Given the description of an element on the screen output the (x, y) to click on. 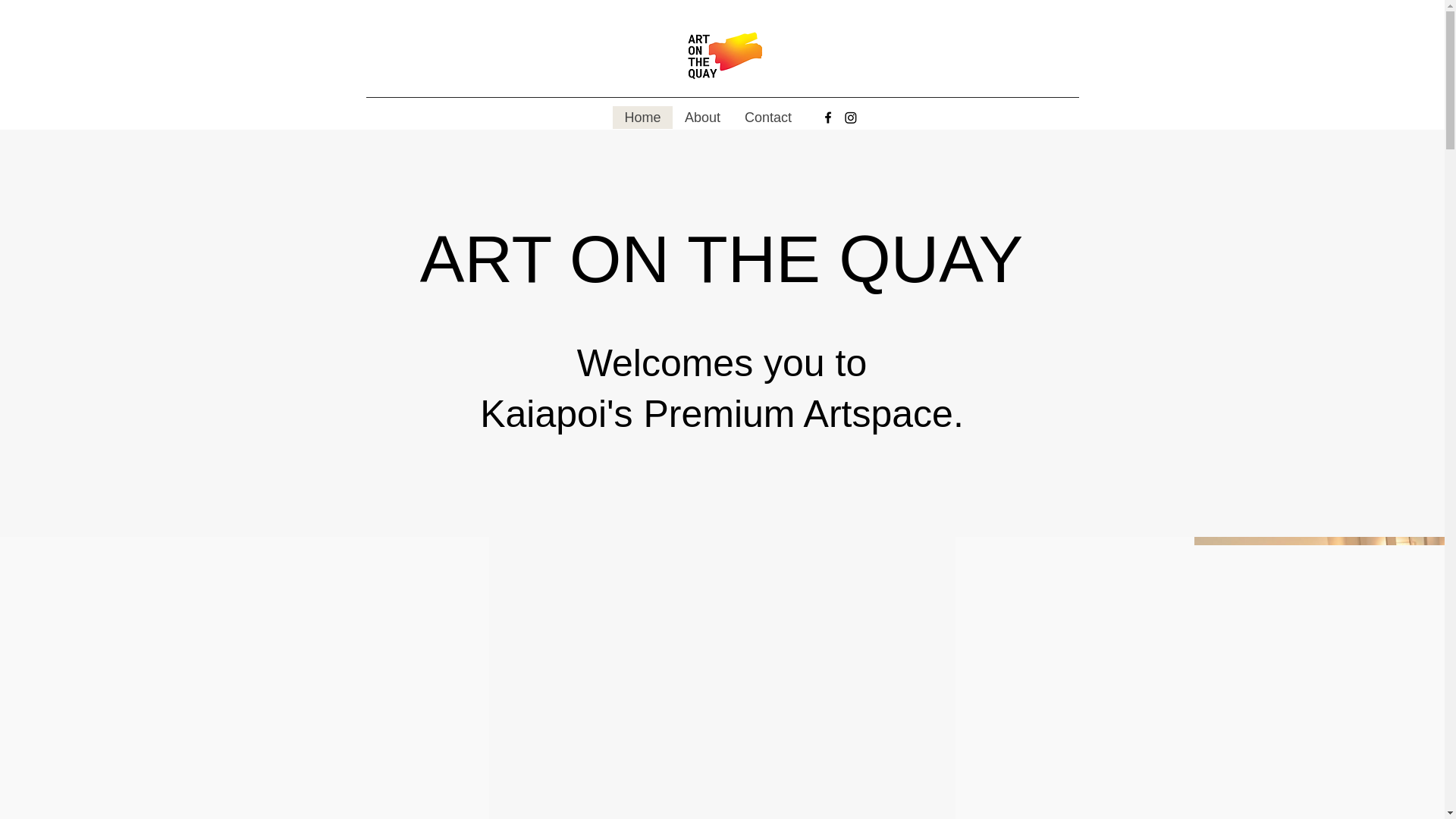
Home (642, 117)
Contact (767, 117)
About (701, 117)
